Given the description of an element on the screen output the (x, y) to click on. 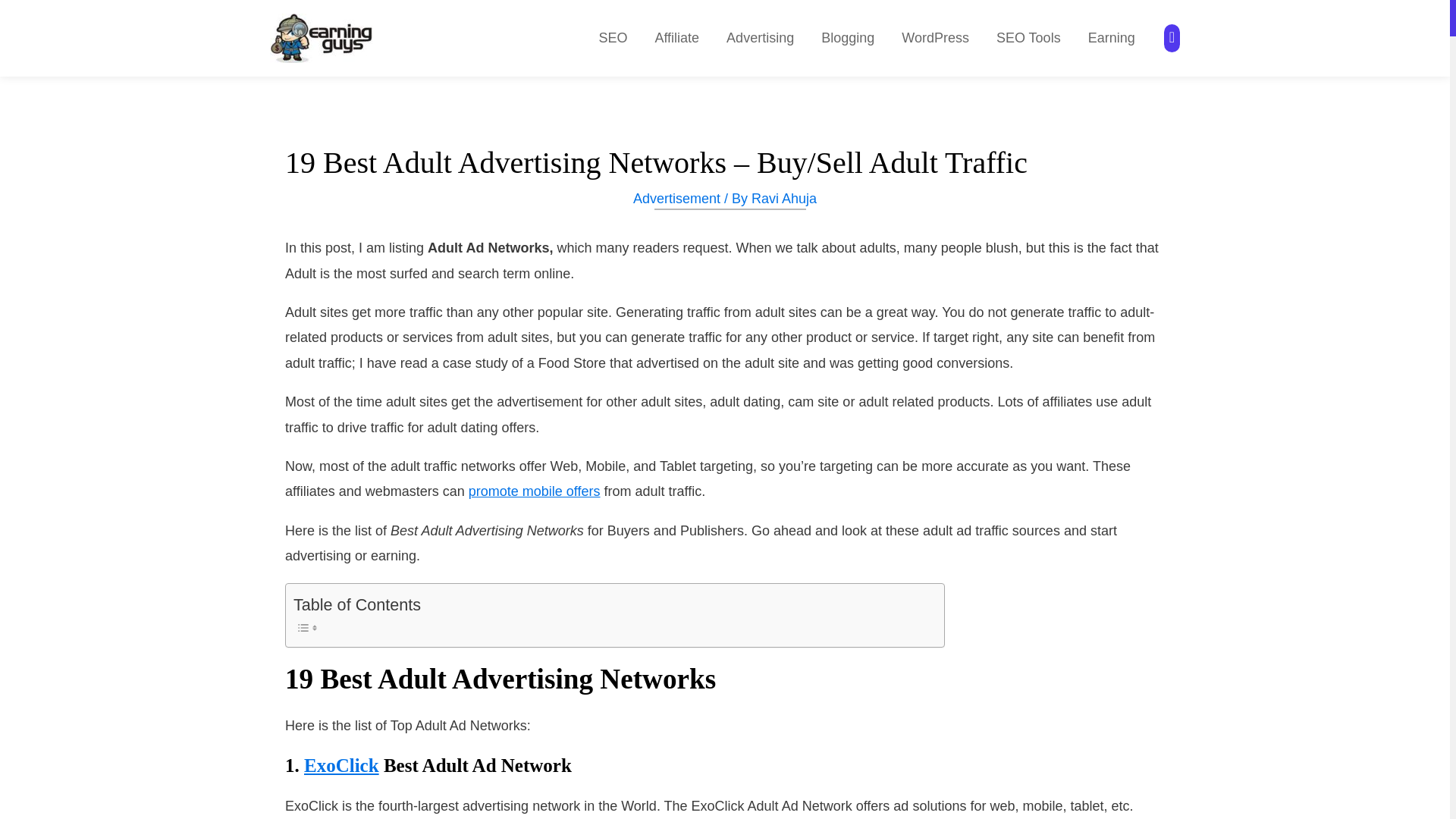
Affiliate (676, 38)
WordPress (935, 38)
SEO Tools (1028, 38)
Advertising (760, 38)
Blogging (848, 38)
promote mobile offers (533, 491)
Ravi Ahuja (783, 198)
Earning (1111, 38)
View all posts by Ravi Ahuja (783, 198)
Advertisement (676, 198)
